Given the description of an element on the screen output the (x, y) to click on. 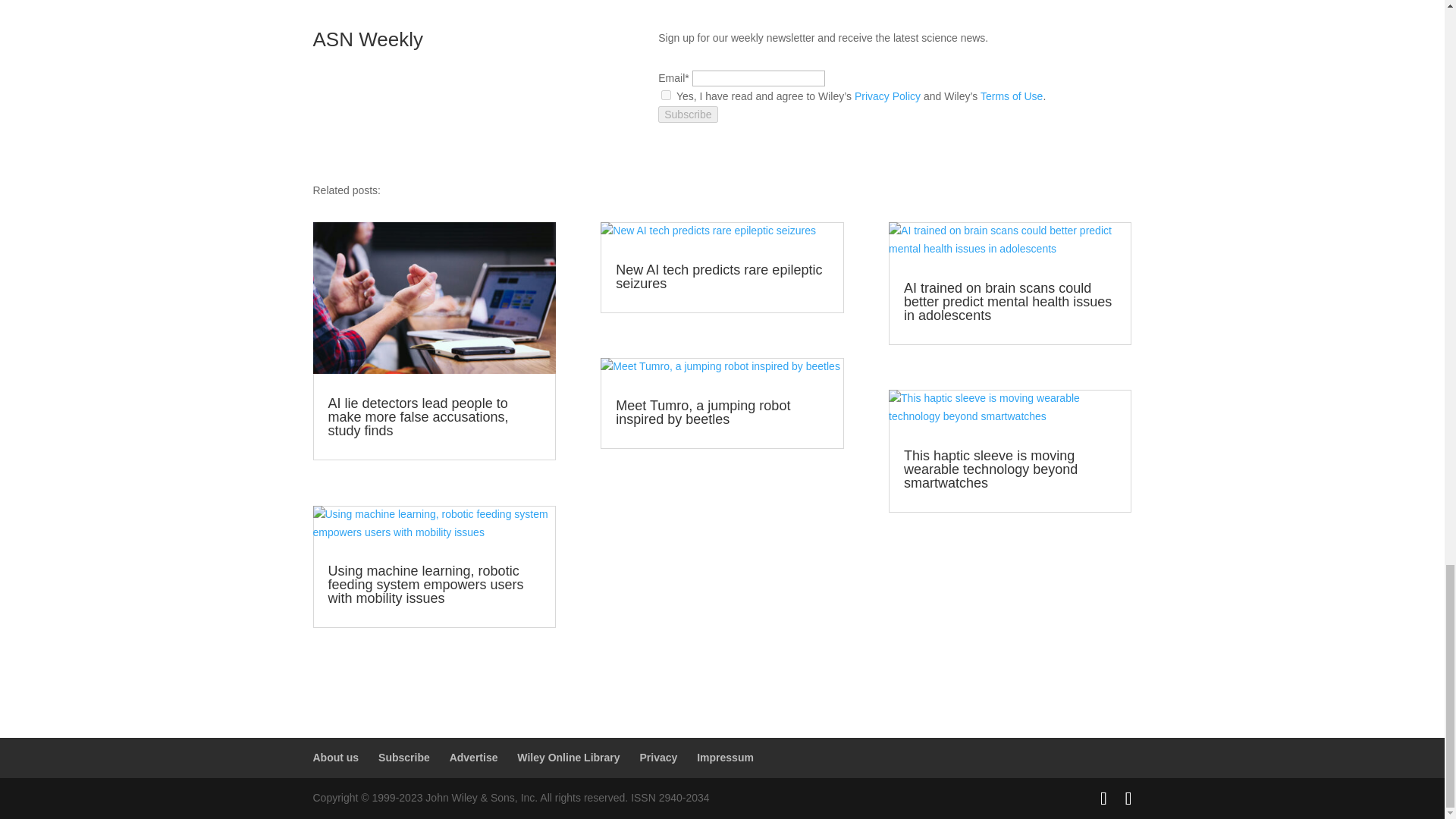
true (666, 94)
